Given the description of an element on the screen output the (x, y) to click on. 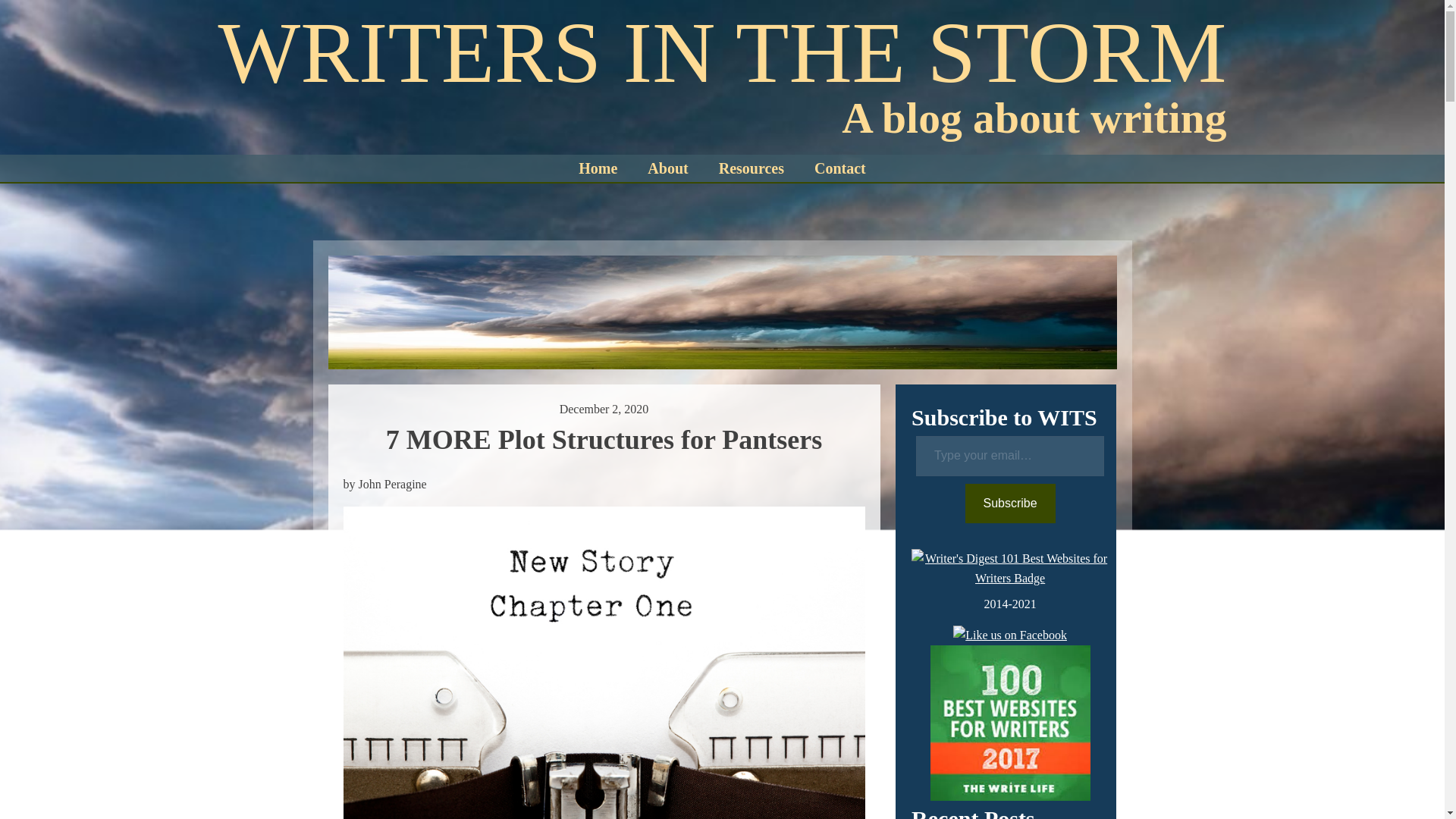
About (667, 167)
Home (597, 167)
Please fill in this field. (1009, 455)
Contact (839, 167)
Resources (751, 167)
